Given the description of an element on the screen output the (x, y) to click on. 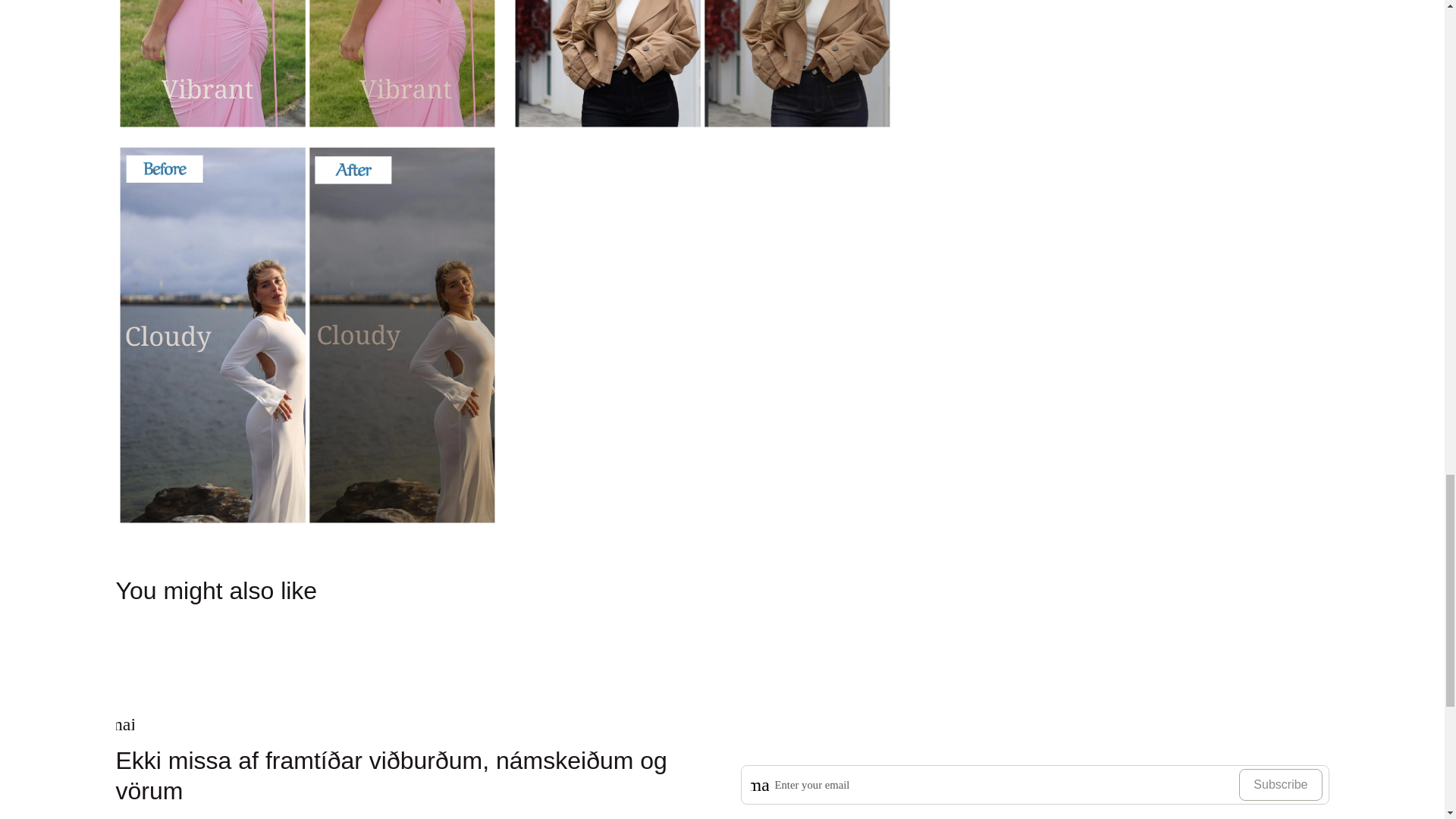
Subscribe (1280, 784)
